Given the description of an element on the screen output the (x, y) to click on. 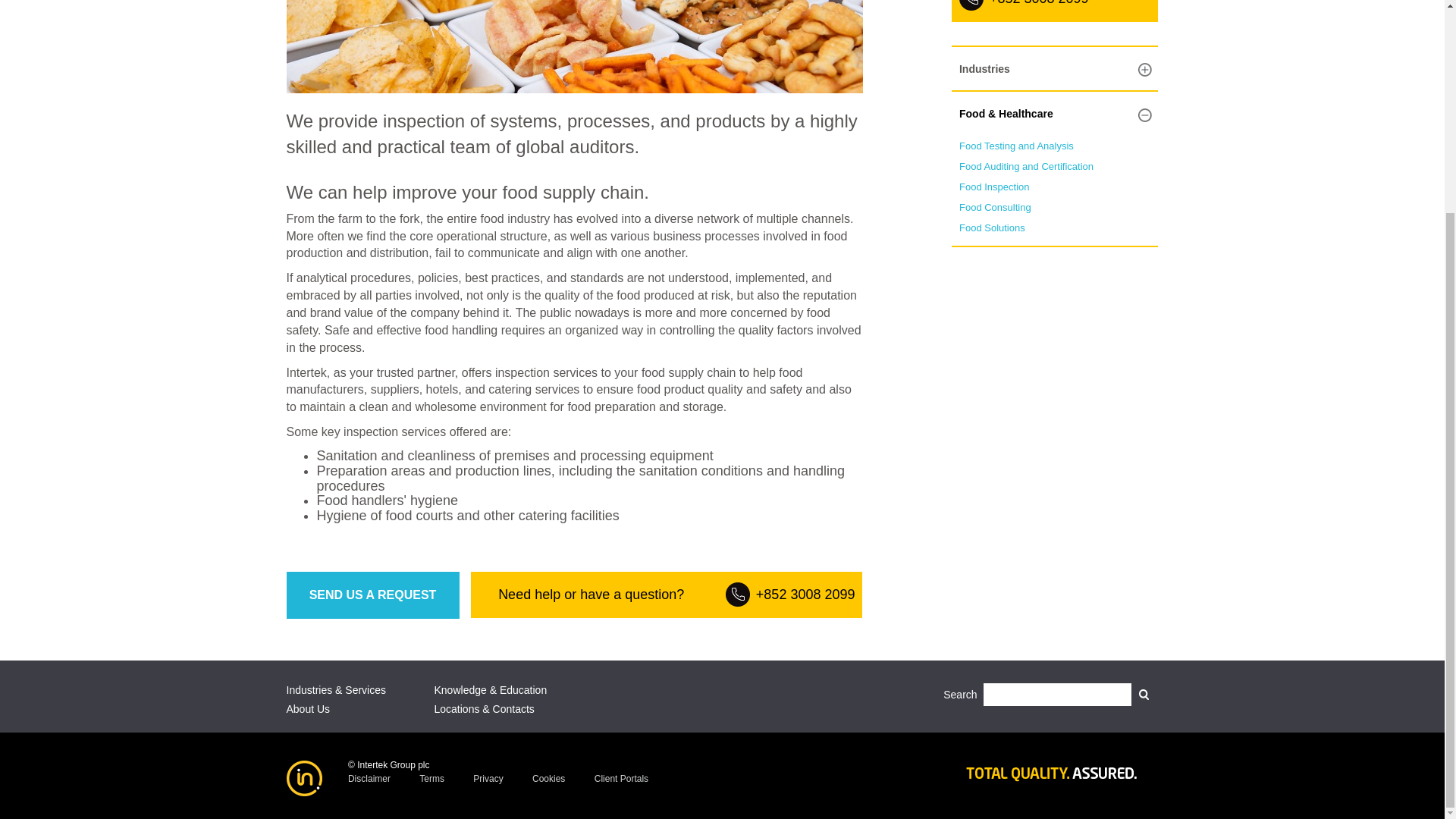
Search (1143, 694)
